Given the description of an element on the screen output the (x, y) to click on. 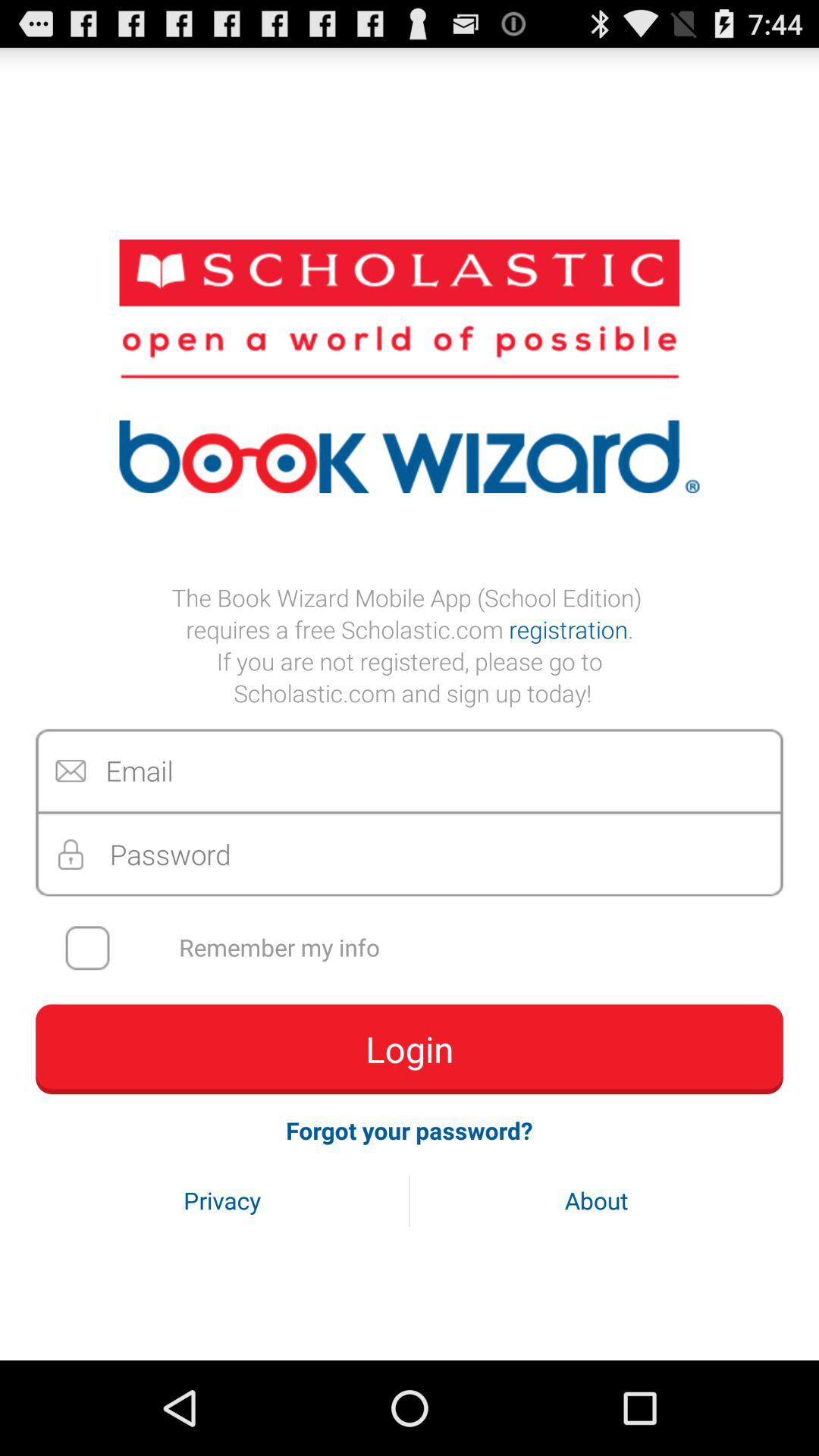
email address (409, 770)
